Given the description of an element on the screen output the (x, y) to click on. 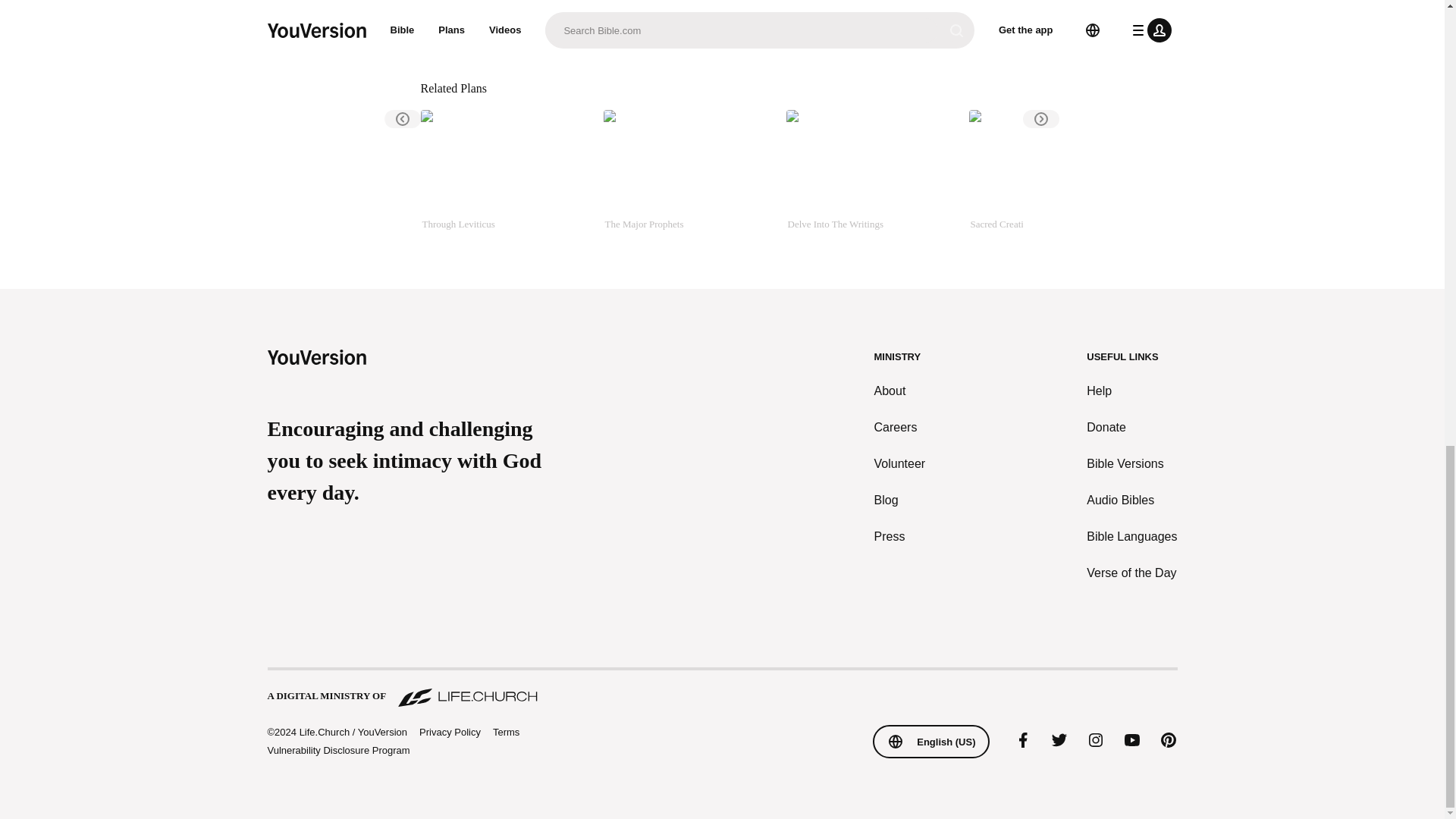
Terms (506, 731)
Volunteer (900, 464)
Vulnerability Disclosure Program (337, 749)
Help (1131, 391)
About The Publisher (514, 31)
Donate (1131, 427)
Privacy Policy (449, 732)
Careers (900, 427)
Verse of the Day (1131, 573)
Bible Languages (1131, 536)
